Given the description of an element on the screen output the (x, y) to click on. 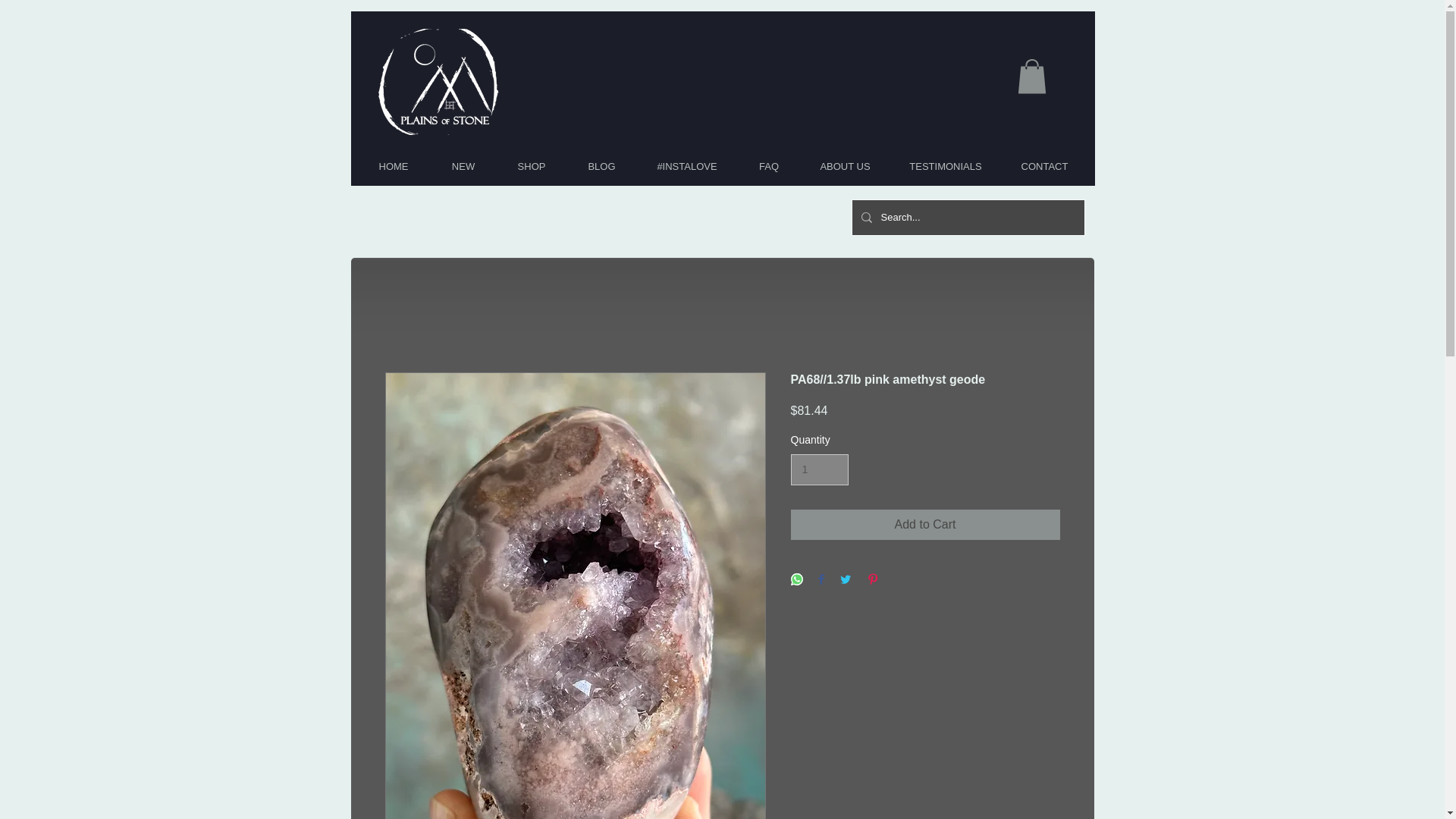
TESTIMONIALS (945, 166)
HOME (392, 166)
CONTACT (1044, 166)
ABOUT US (844, 166)
BLOG (602, 166)
NEW (463, 166)
SHOP (531, 166)
1 (818, 469)
Add to Cart (924, 524)
FAQ (767, 166)
